Given the description of an element on the screen output the (x, y) to click on. 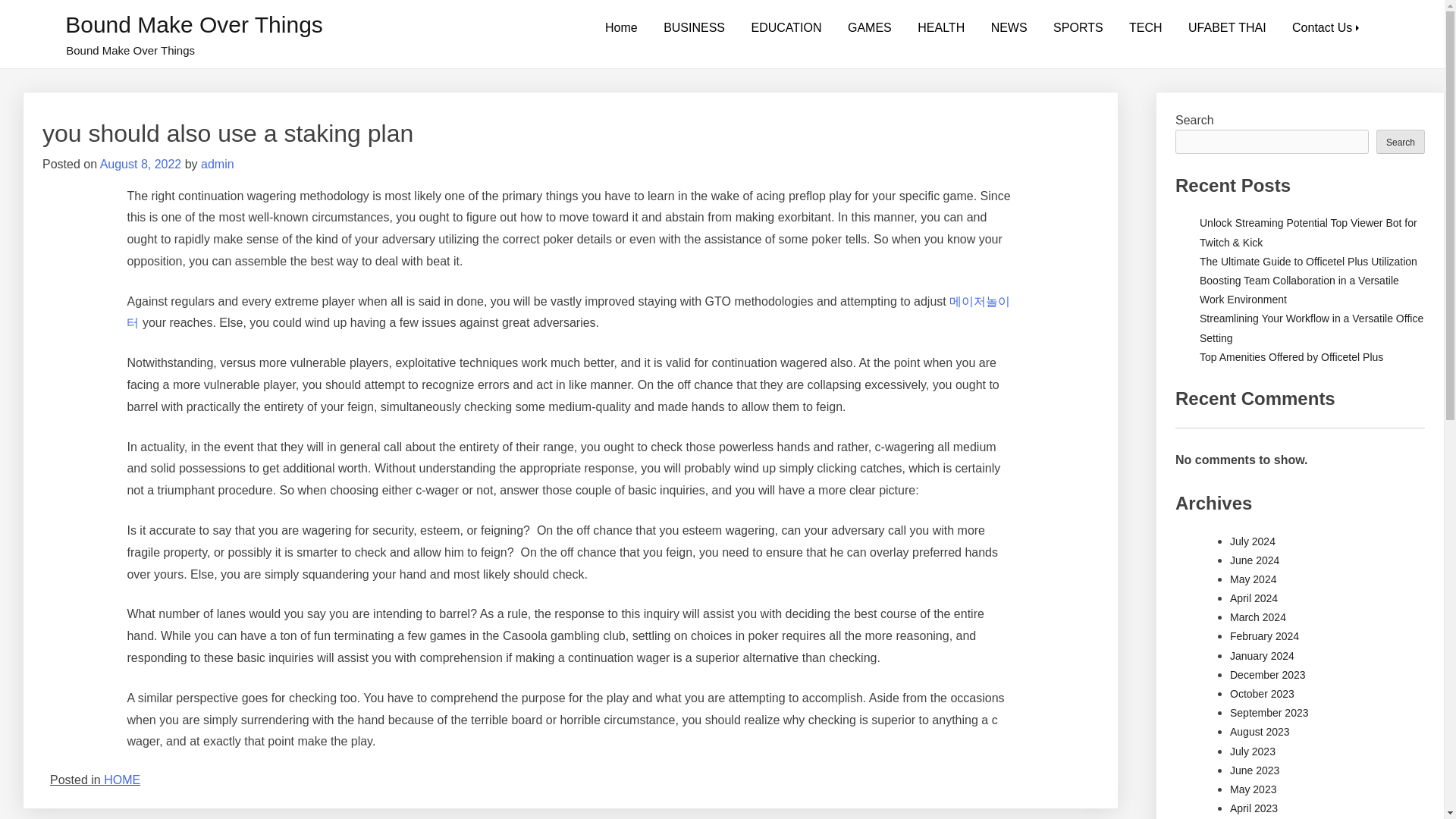
SPORTS (1078, 28)
October 2023 (1262, 693)
August 2023 (1260, 731)
NEWS (1009, 28)
Home (621, 28)
HEALTH (940, 28)
EDUCATION (785, 28)
March 2024 (1257, 616)
January 2024 (1262, 655)
Streamlining Your Workflow in a Versatile Office Setting (1311, 327)
